Given the description of an element on the screen output the (x, y) to click on. 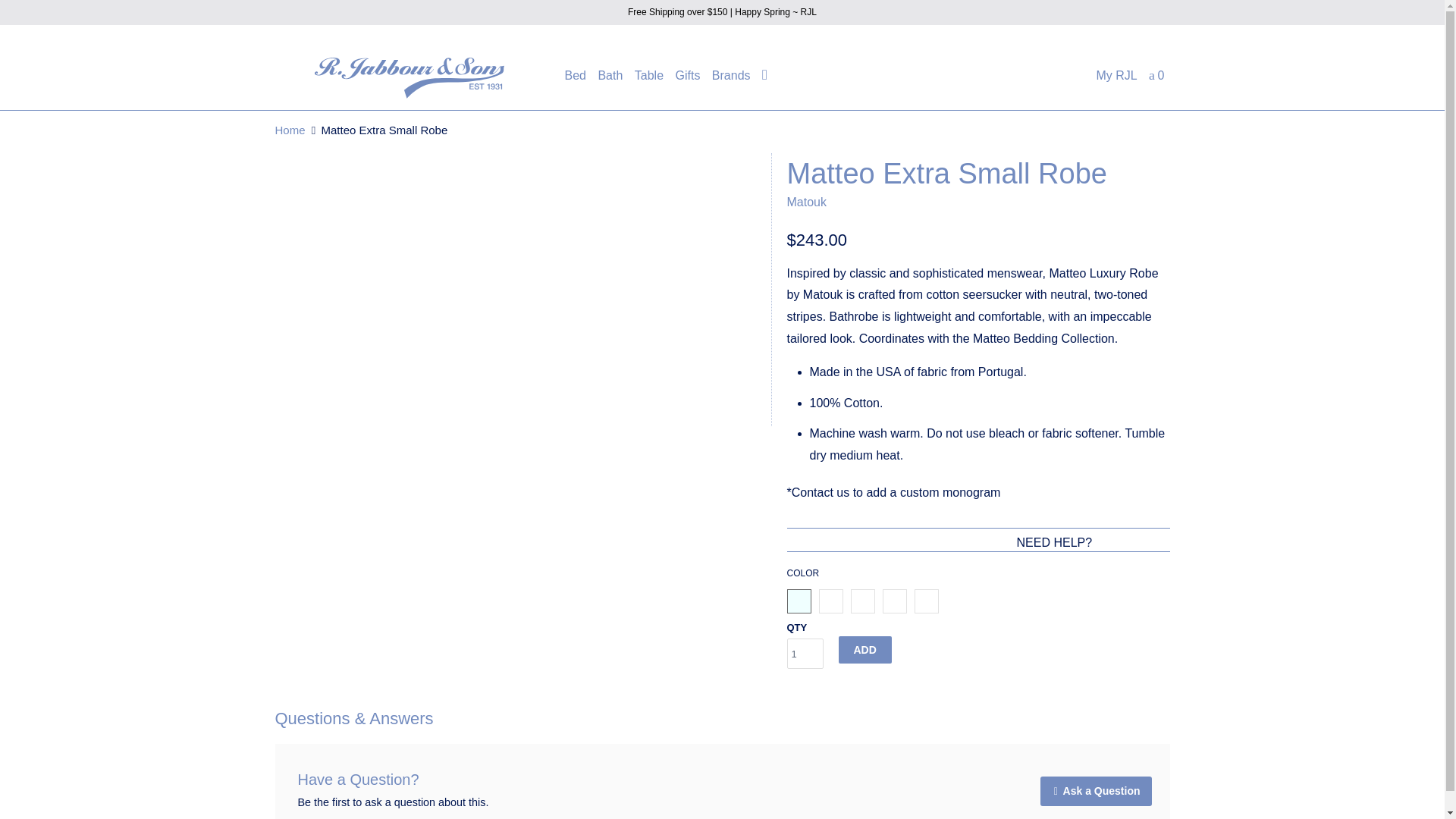
Jabbour Linens (289, 129)
Jabbour Linens (409, 77)
My RJL  (1116, 79)
Matouk (807, 201)
1 (805, 653)
